Given the description of an element on the screen output the (x, y) to click on. 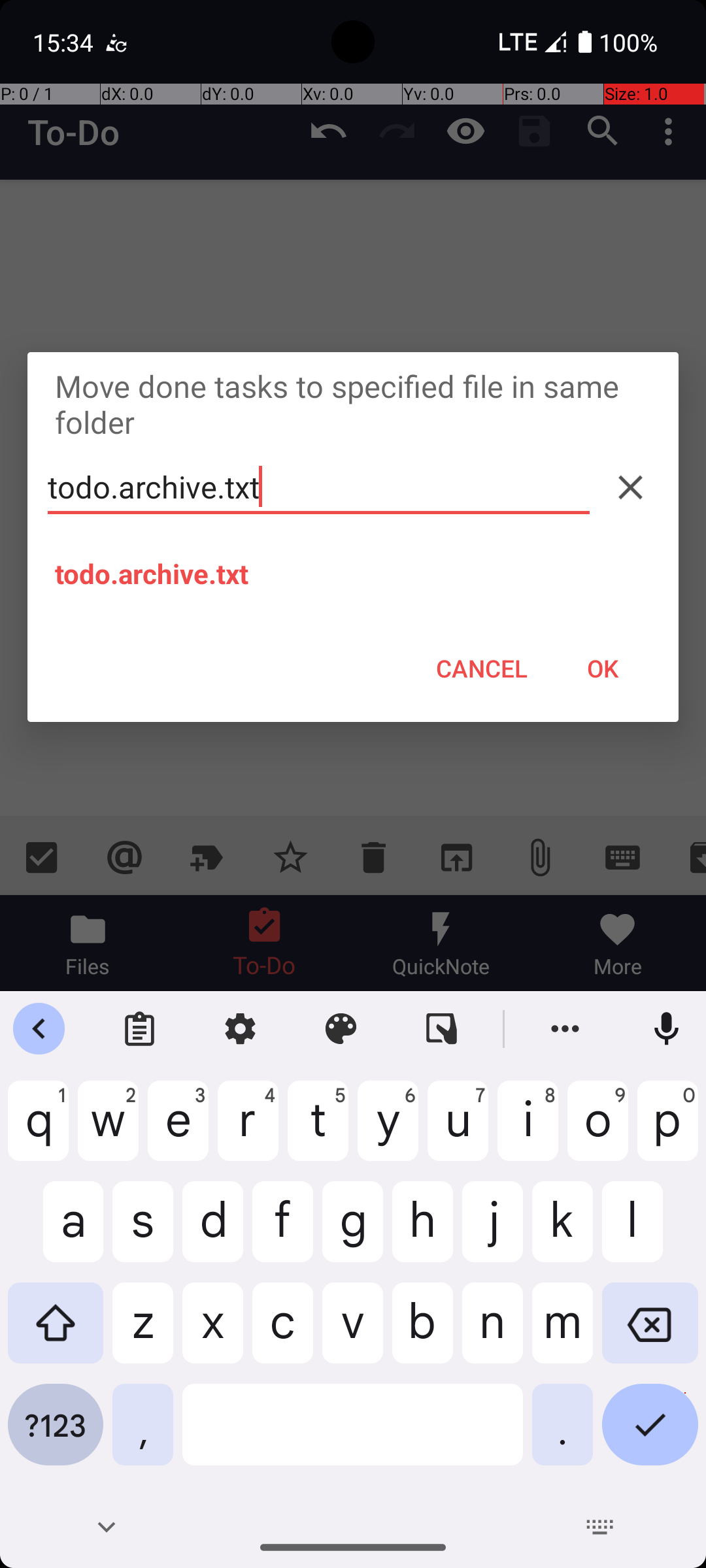
Move done tasks to specified file in same folder Element type: android.widget.TextView (352, 403)
todo.archive.txt Element type: android.widget.EditText (318, 486)
